Given the description of an element on the screen output the (x, y) to click on. 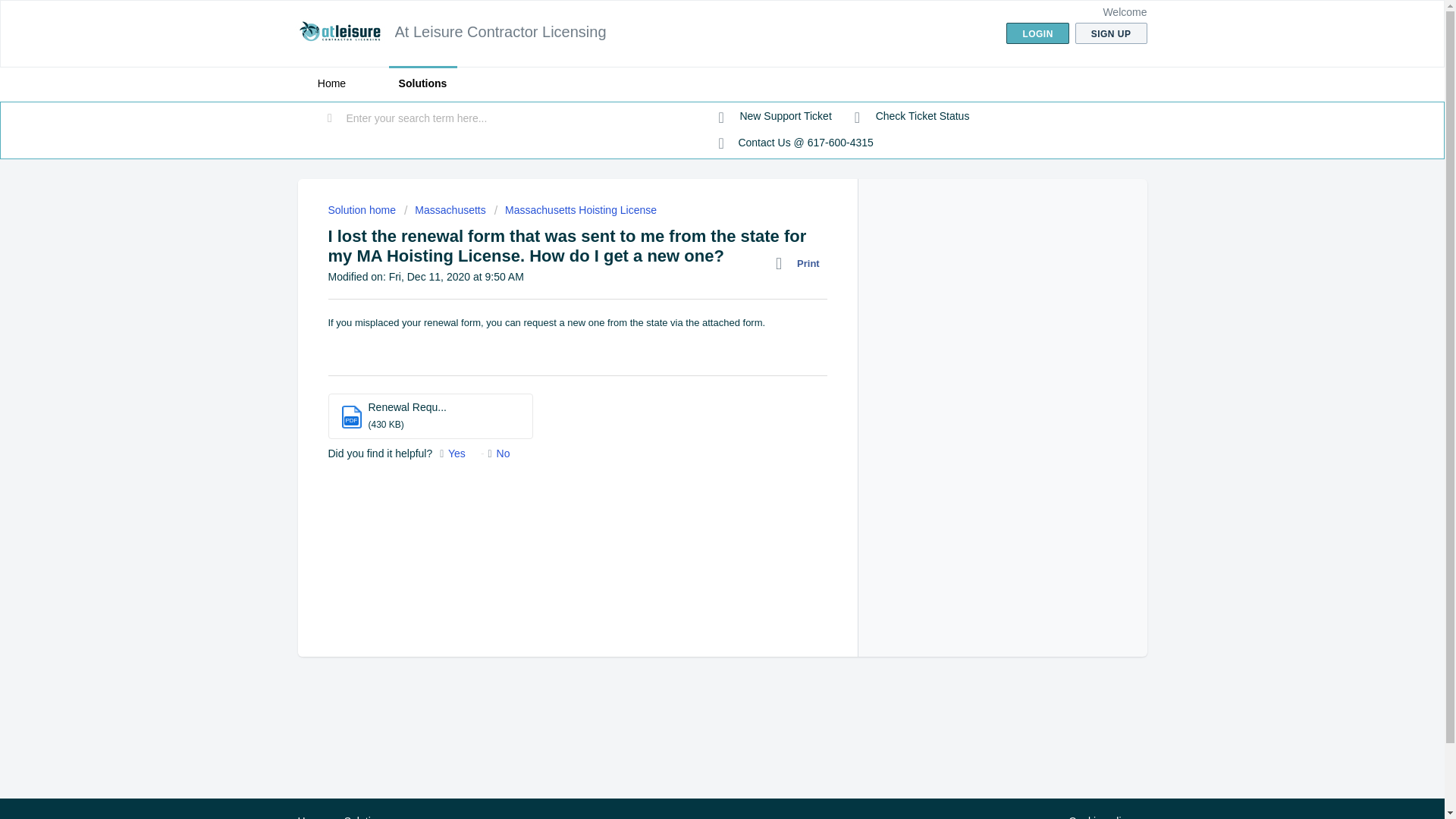
SIGN UP (1111, 33)
Solutions (365, 816)
Check Ticket Status (911, 116)
Home (310, 816)
Massachusetts (445, 209)
Print this Article (801, 263)
LOGIN (1037, 33)
Massachusetts Hoisting License (575, 209)
Why we love Cookies (1099, 816)
Print (801, 263)
